Given the description of an element on the screen output the (x, y) to click on. 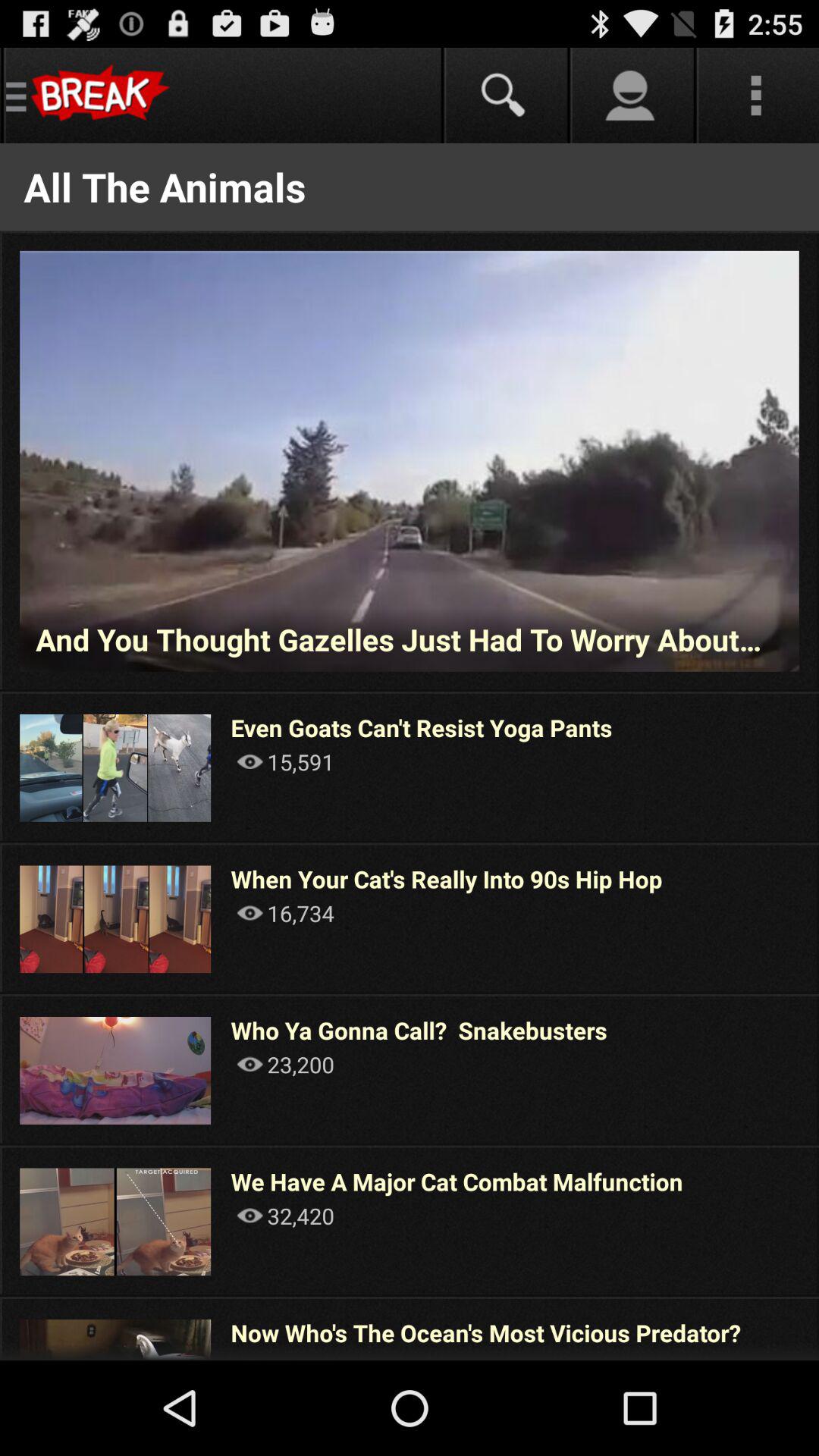
swipe until the 16,734 (285, 913)
